Given the description of an element on the screen output the (x, y) to click on. 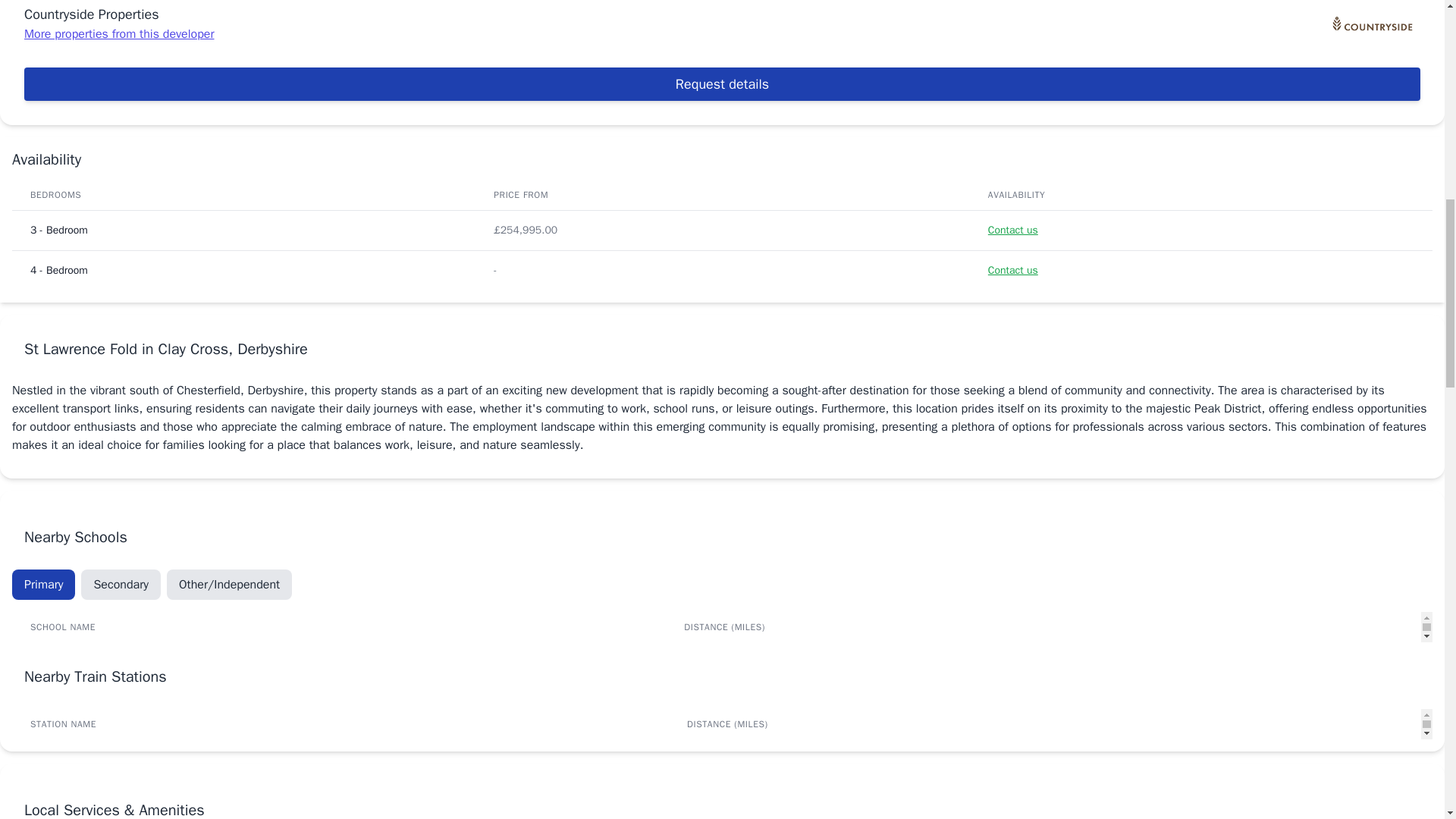
Secondary (120, 584)
Contact us (1013, 269)
Request details (722, 83)
More properties from this developer (119, 33)
Contact us (1013, 229)
Primary (43, 584)
